Given the description of an element on the screen output the (x, y) to click on. 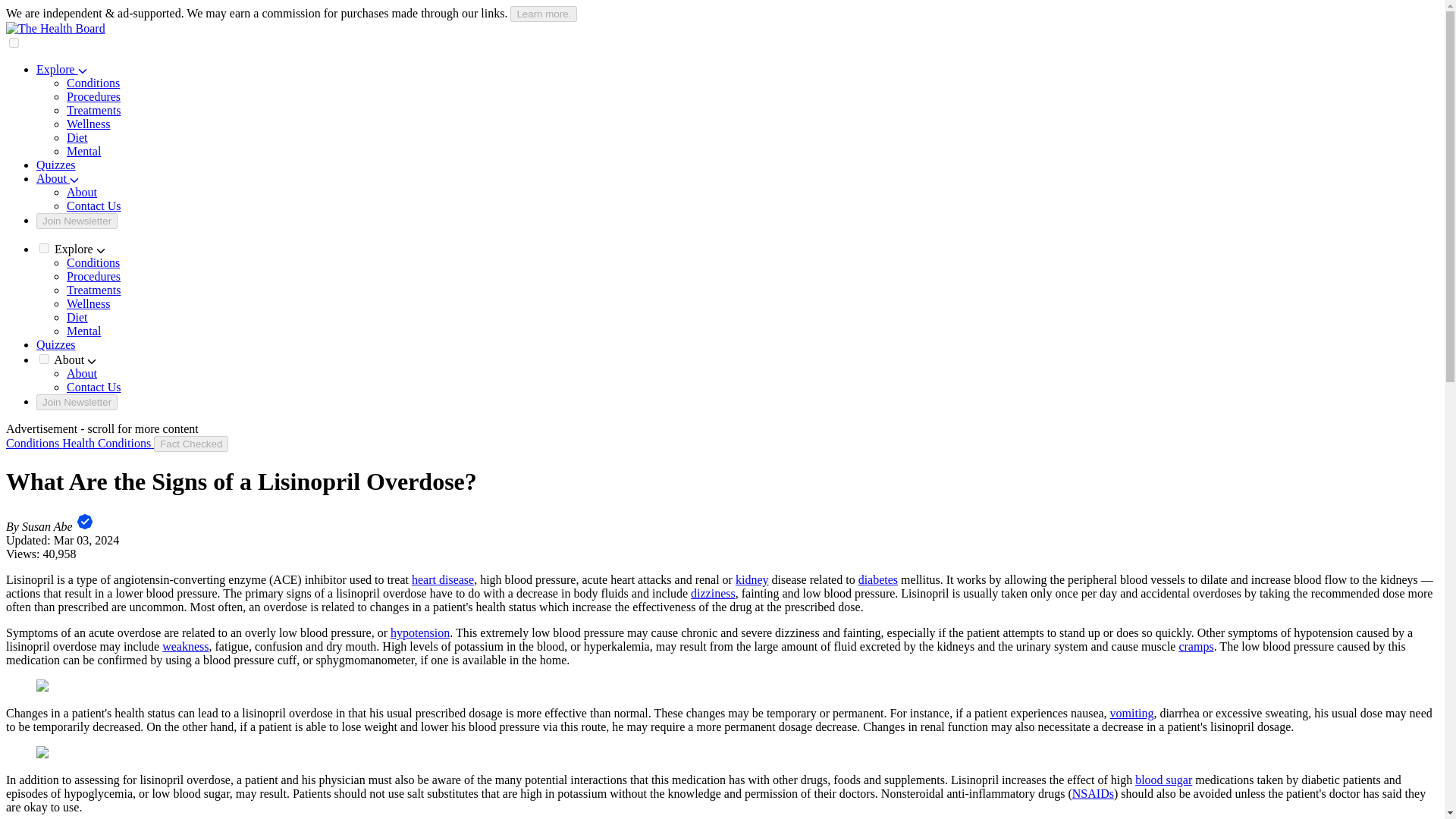
on (44, 248)
Conditions (92, 262)
Procedures (93, 96)
hypotension (419, 632)
NSAIDs (1092, 793)
Quizzes (55, 164)
on (44, 358)
blood sugar (1163, 779)
Mental (83, 330)
vomiting (1131, 712)
